Given the description of an element on the screen output the (x, y) to click on. 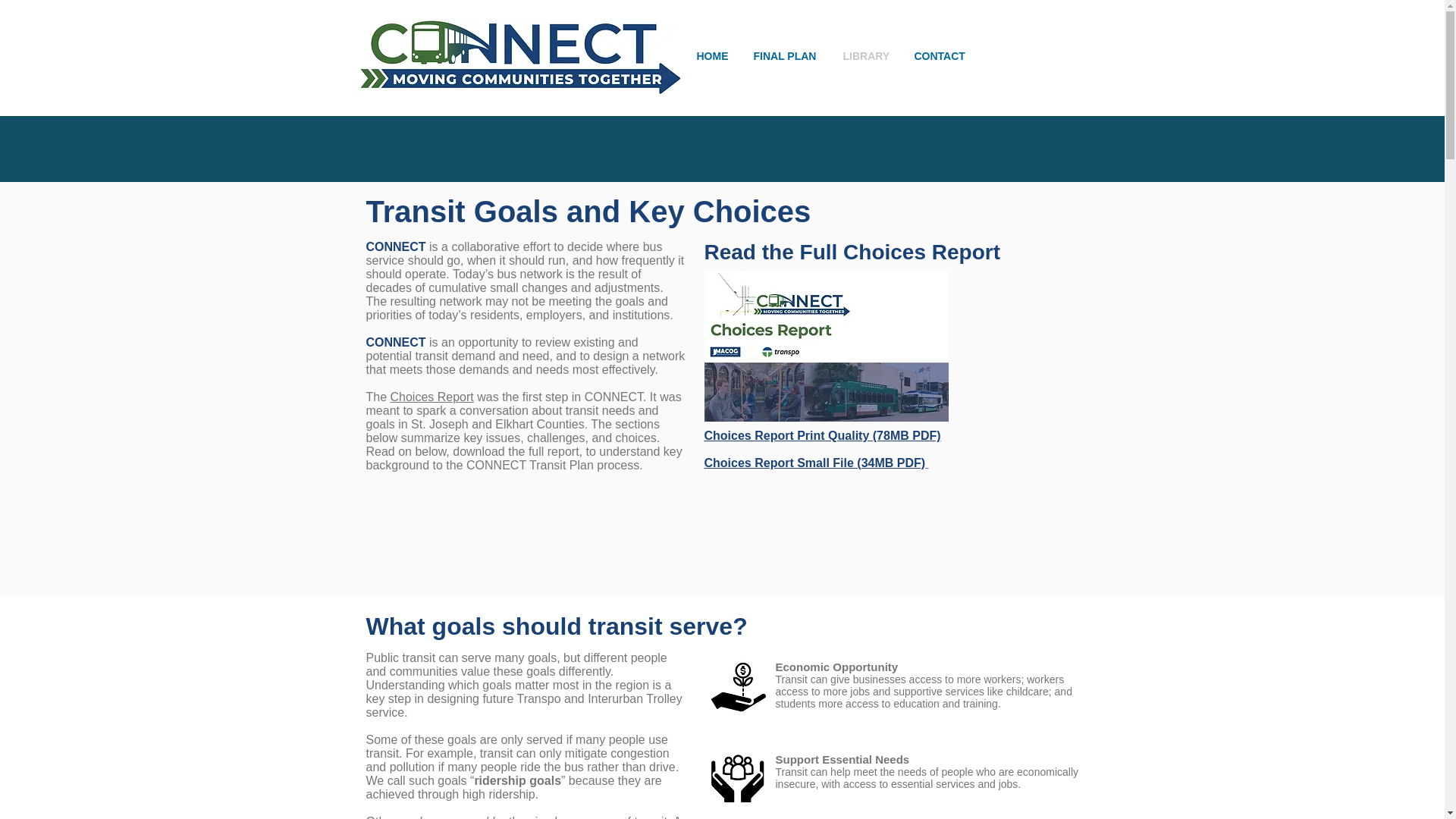
Choices Report Cover Page (825, 346)
LIBRARY (866, 55)
FINAL PLAN (786, 55)
Choices Report (432, 396)
CONTACT (940, 55)
HOME (713, 55)
